Given the description of an element on the screen output the (x, y) to click on. 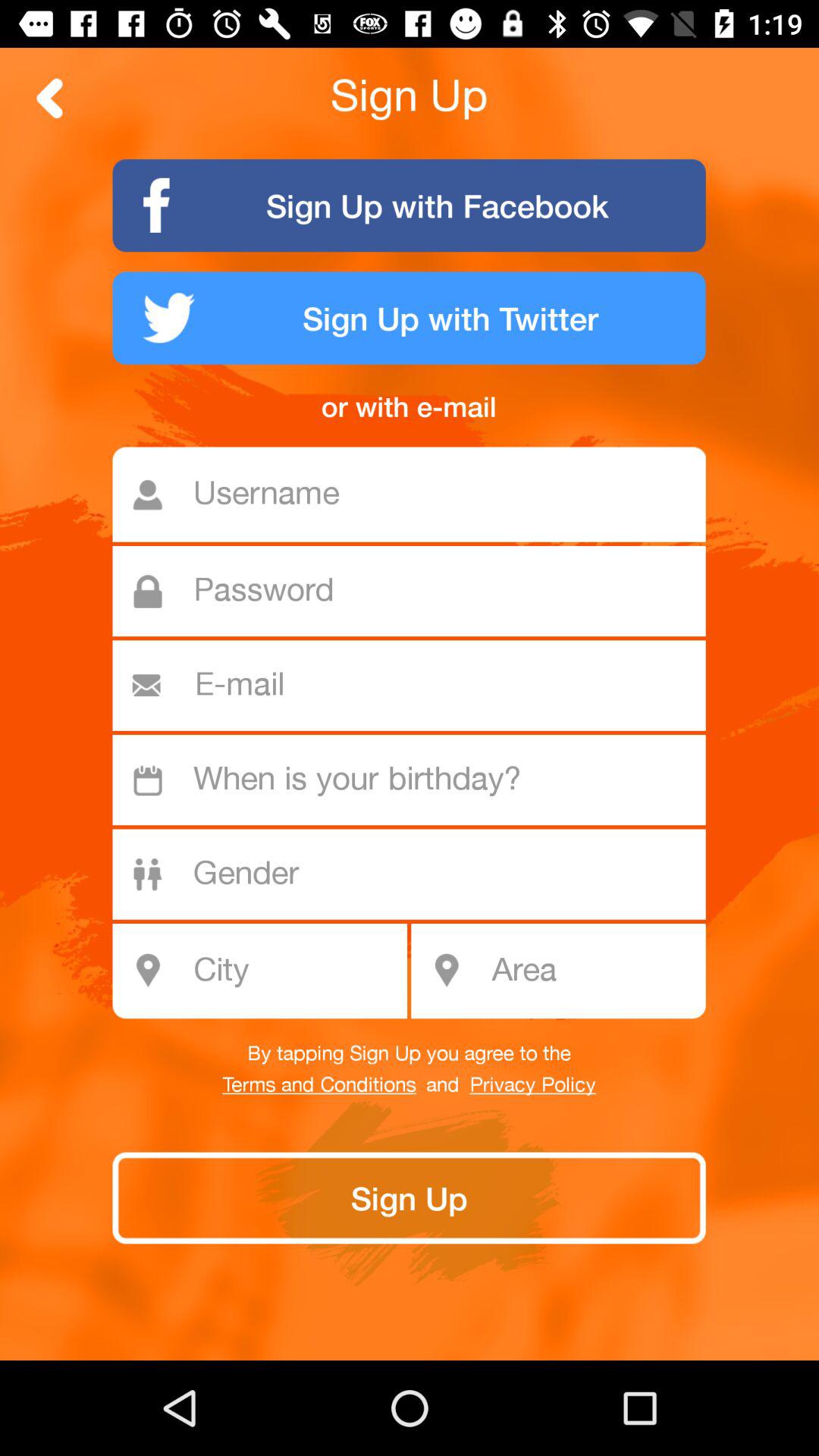
flip until the privacy policy icon (532, 1085)
